Given the description of an element on the screen output the (x, y) to click on. 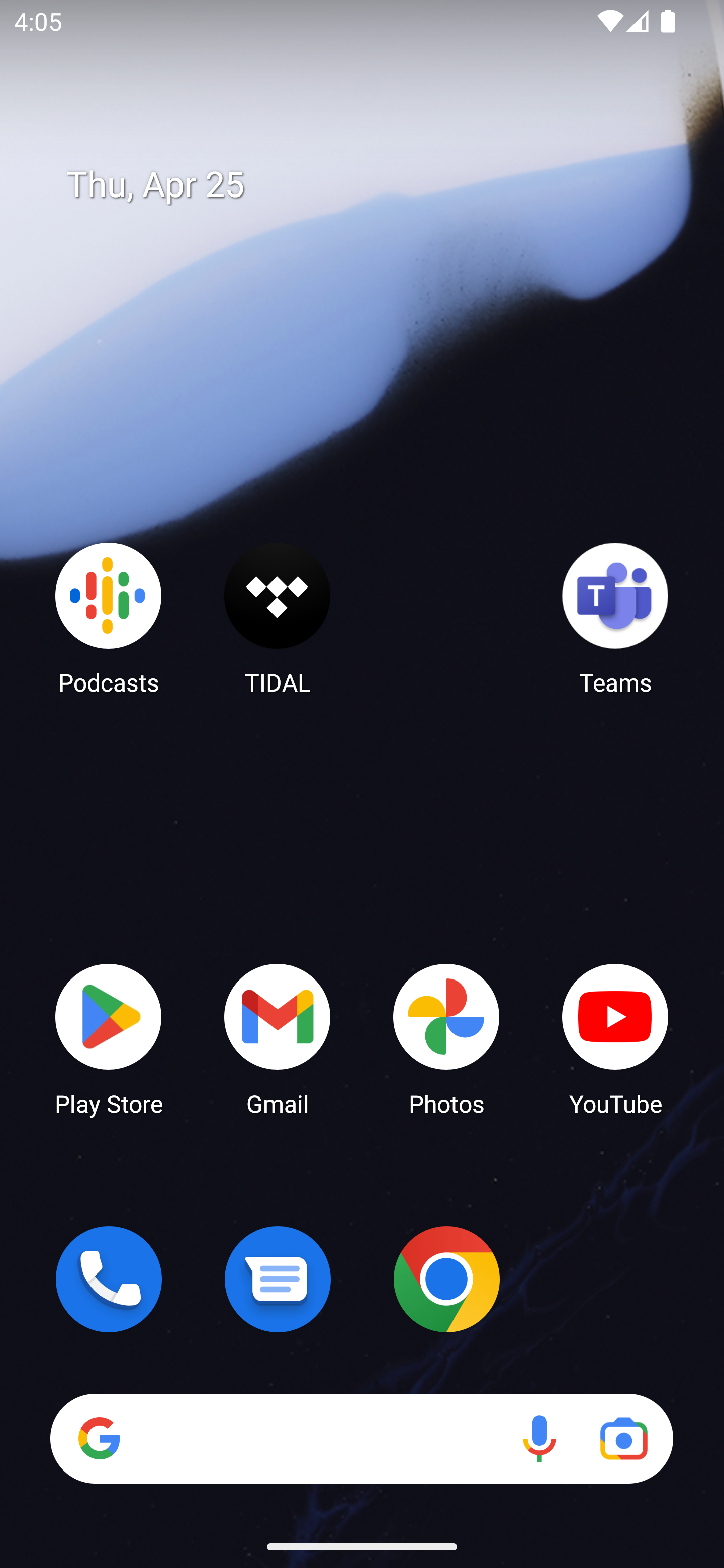
Thu, Apr 25 (375, 184)
Podcasts (108, 617)
TIDAL (277, 617)
Teams (615, 617)
Play Store (108, 1038)
Gmail (277, 1038)
Photos (445, 1038)
YouTube (615, 1038)
Phone (108, 1279)
Messages (277, 1279)
Chrome (446, 1279)
Search Voice search Google Lens (361, 1438)
Voice search (539, 1438)
Google Lens (623, 1438)
